Given the description of an element on the screen output the (x, y) to click on. 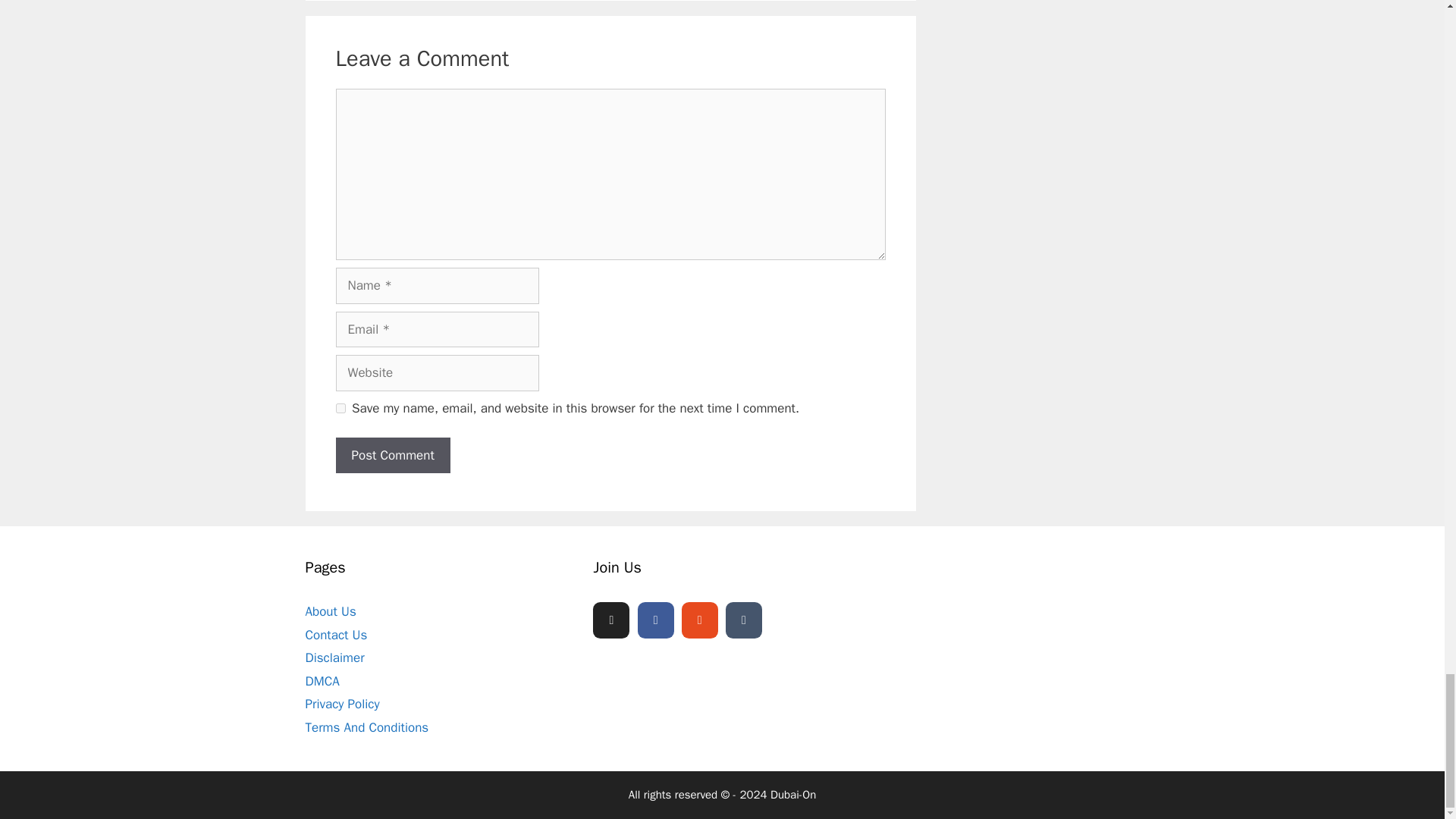
reddit (699, 619)
Post Comment (391, 455)
Post Comment (391, 455)
Facebook (655, 619)
yes (339, 408)
